Given the description of an element on the screen output the (x, y) to click on. 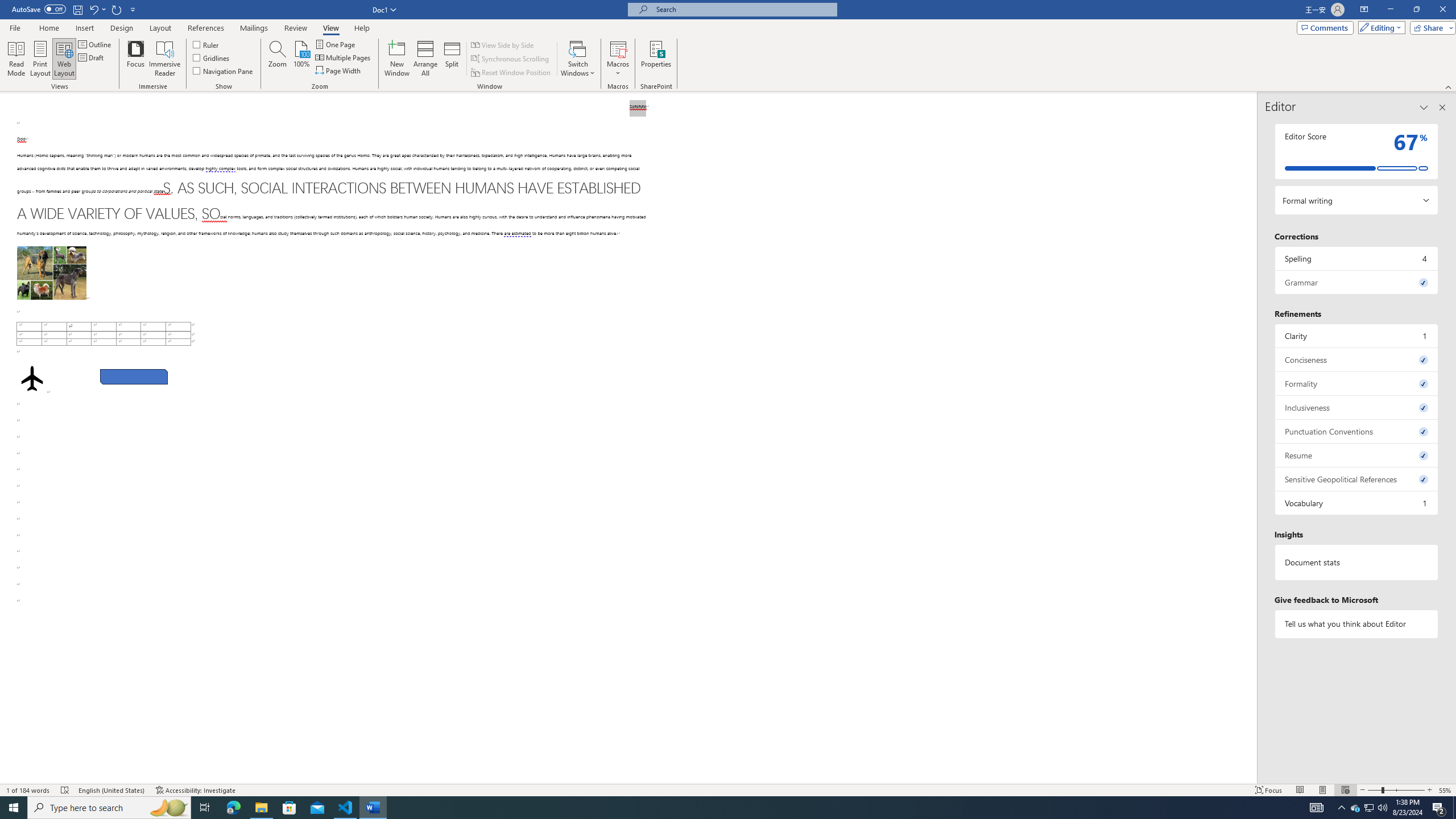
Undo Paragraph Alignment (96, 9)
New Window (396, 58)
Properties (655, 58)
View Side by Side (502, 44)
Class: NetUIScrollBar (1251, 437)
Resume, 0 issues. Press space or enter to review items. (1356, 454)
Zoom (1396, 790)
Arrange All (425, 58)
